Given the description of an element on the screen output the (x, y) to click on. 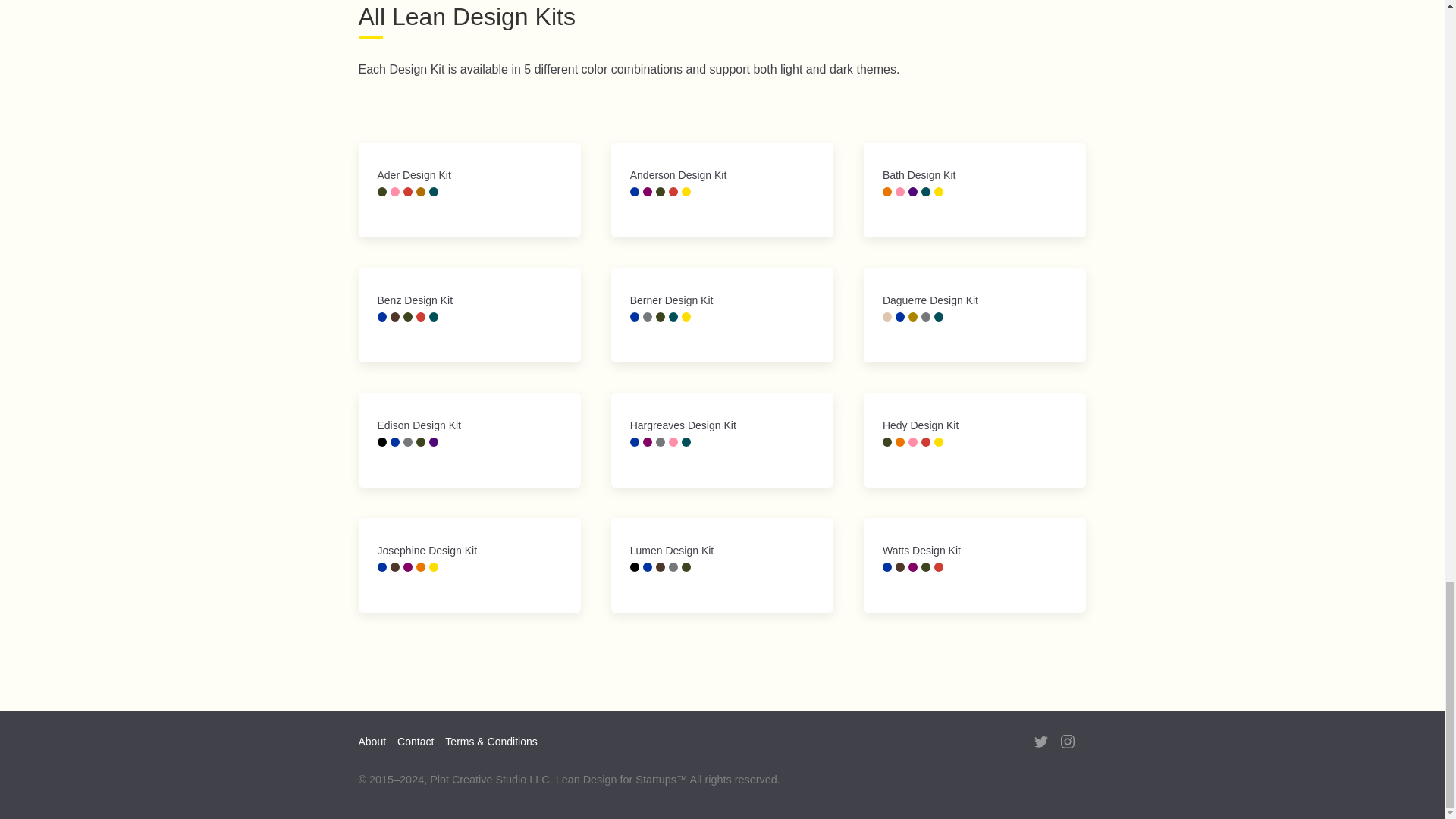
Hargreaves Design Kit (721, 440)
Lumen Design Kit (721, 564)
Bath Design Kit (974, 189)
Edison Design Kit (468, 440)
Daguerre Design Kit (974, 314)
Watts Design Kit (974, 564)
Anderson Design Kit (721, 189)
Josephine Design Kit (468, 564)
Hedy Design Kit (974, 440)
Berner Design Kit (721, 314)
